Given the description of an element on the screen output the (x, y) to click on. 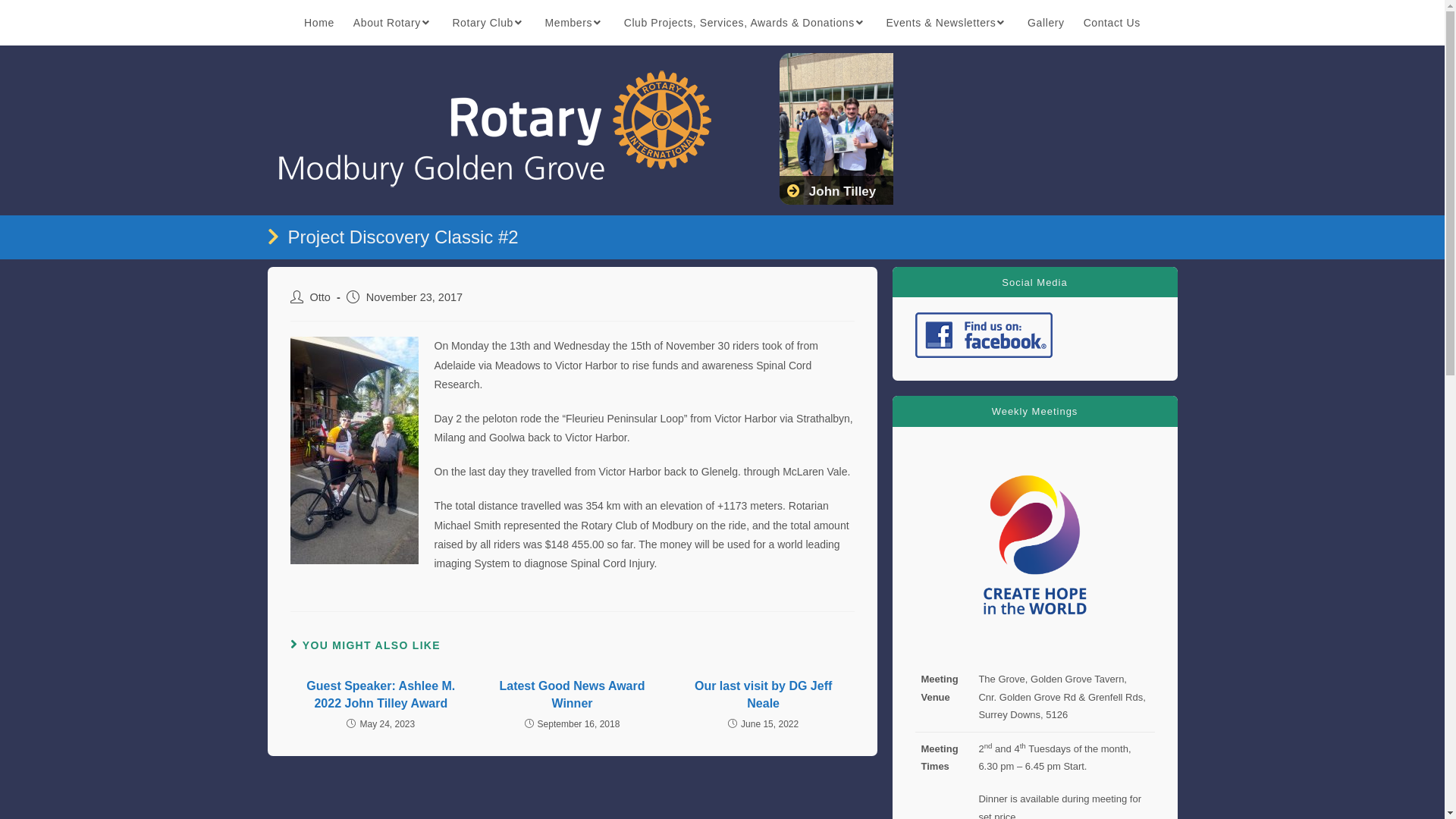
Events & Newsletters Element type: text (947, 22)
Guest Speaker: Ashlee M. 2022 John Tilley Award Element type: text (380, 694)
Rotary Club Element type: text (488, 22)
Club Projects, Services, Awards & Donations Element type: text (745, 22)
Latest Good News Award Winner Element type: text (572, 694)
Members Element type: text (574, 22)
Contact Us Element type: text (1111, 22)
Home Element type: text (319, 22)
Our last visit by DG Jeff Neale Element type: text (763, 694)
About Rotary Element type: text (392, 22)
Otto Element type: text (319, 297)
Gallery Element type: text (1046, 22)
